Given the description of an element on the screen output the (x, y) to click on. 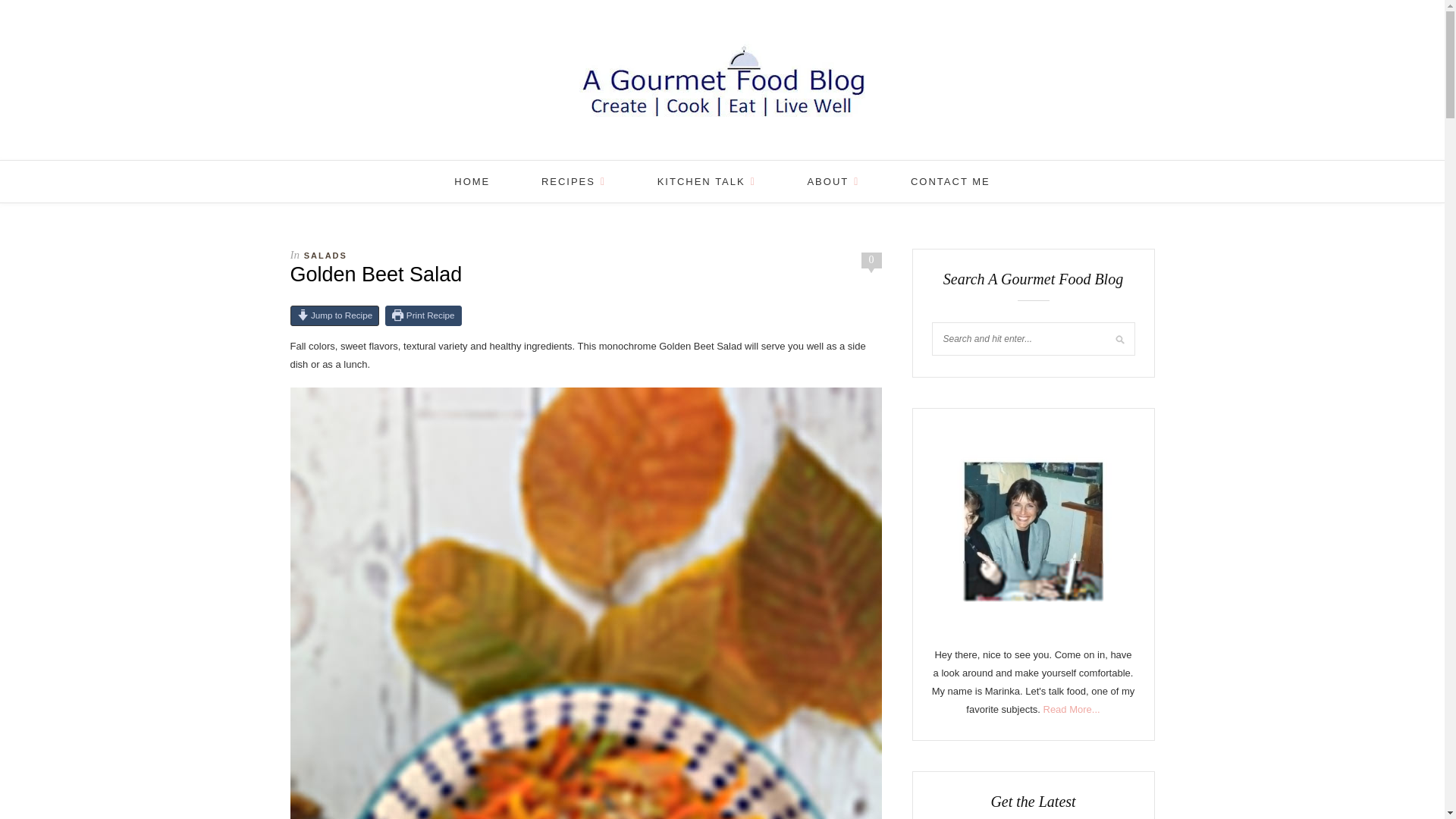
Jump to Recipe (333, 315)
Print Recipe (423, 315)
RECIPES (573, 181)
KITCHEN TALK (706, 181)
SALADS (325, 255)
ABOUT (832, 181)
CONTACT ME (950, 181)
